Given the description of an element on the screen output the (x, y) to click on. 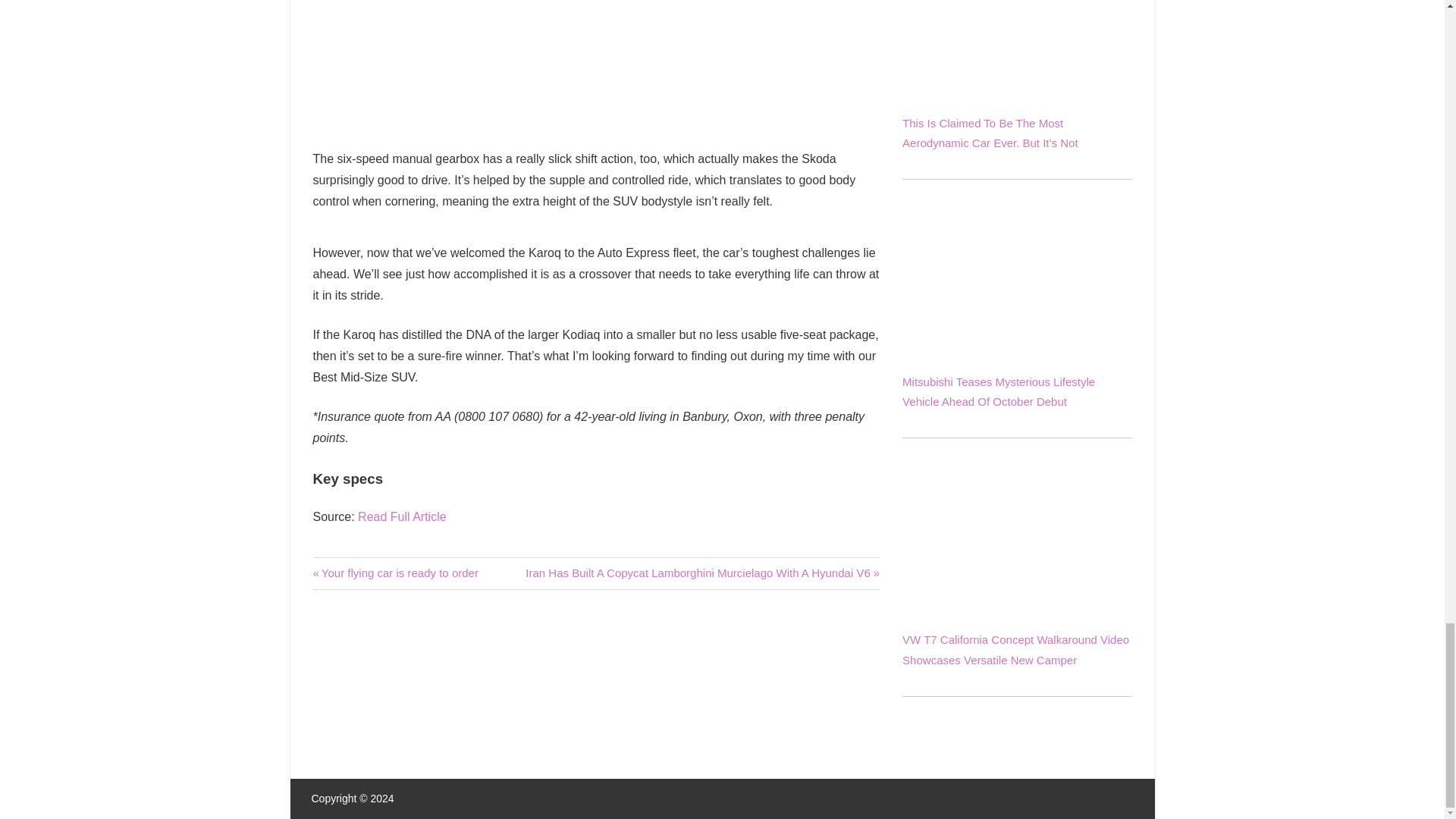
Read Full Article (395, 572)
